Given the description of an element on the screen output the (x, y) to click on. 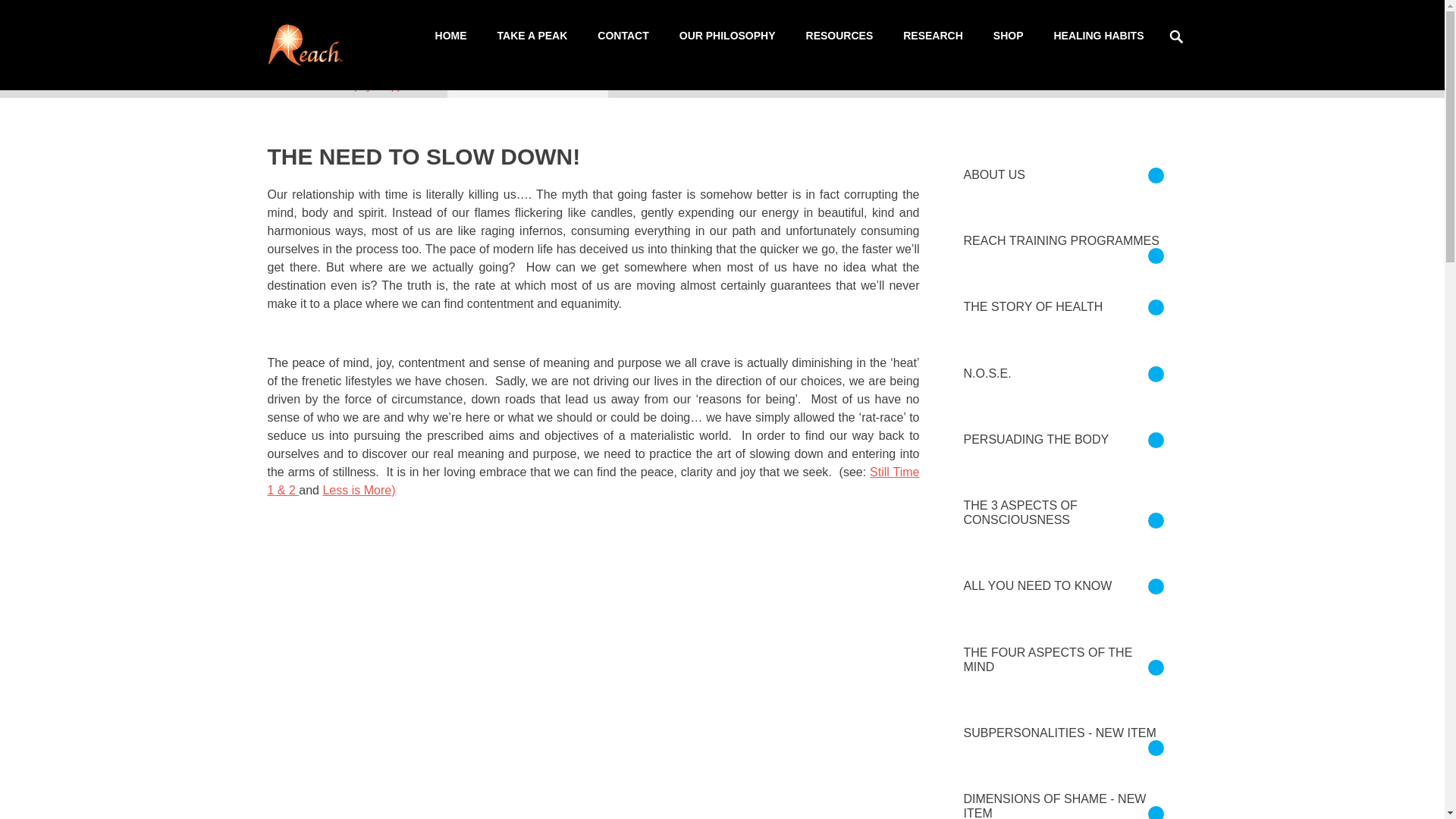
RESOURCES (839, 36)
RESEARCH (933, 36)
OUR PHILOSOPHY (726, 36)
CONTACT (622, 36)
TAKE A PEAK (532, 36)
